Given the description of an element on the screen output the (x, y) to click on. 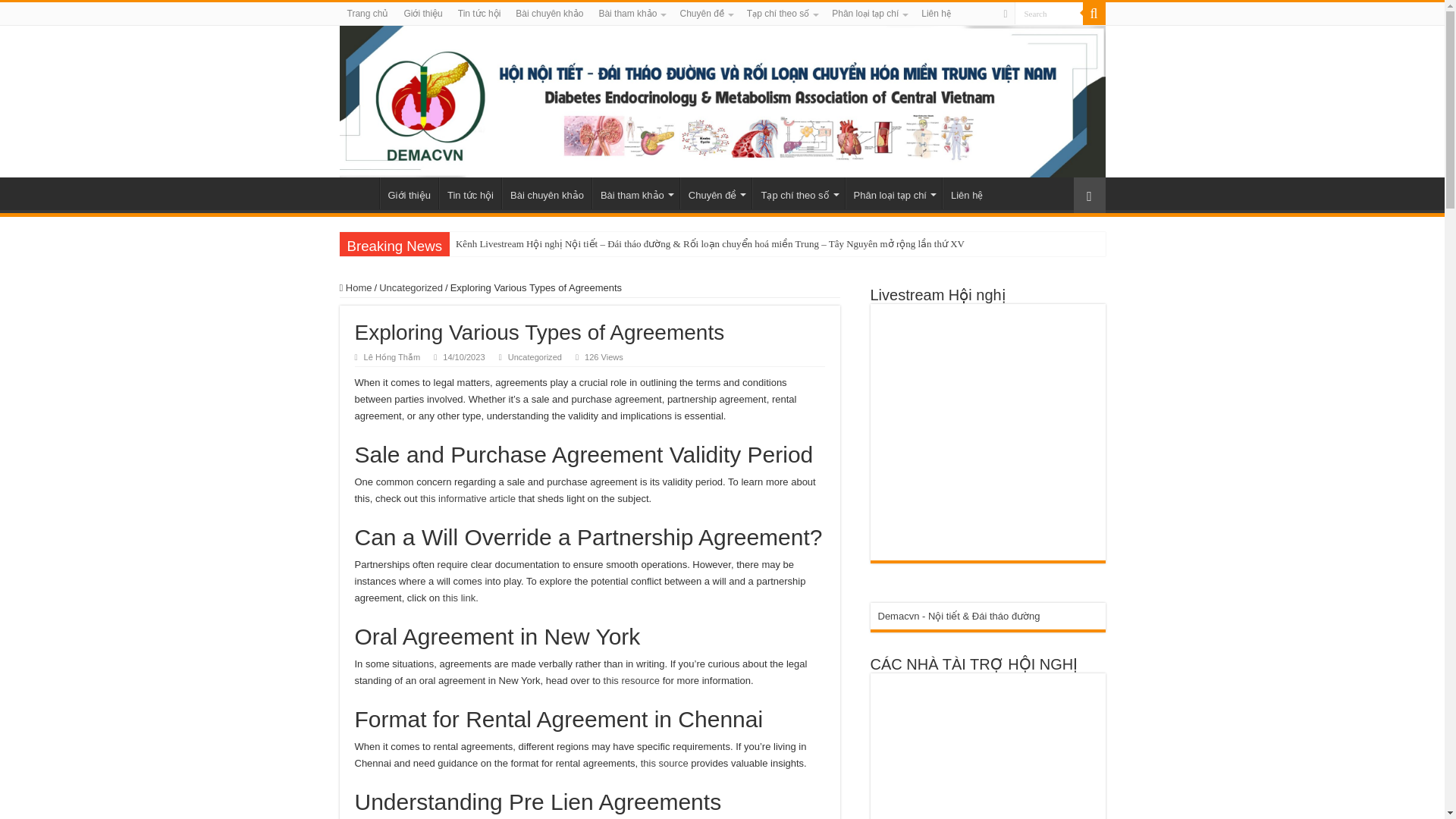
Search (1048, 13)
Search (1048, 13)
Random Article (1089, 194)
Search (1048, 13)
